Given the description of an element on the screen output the (x, y) to click on. 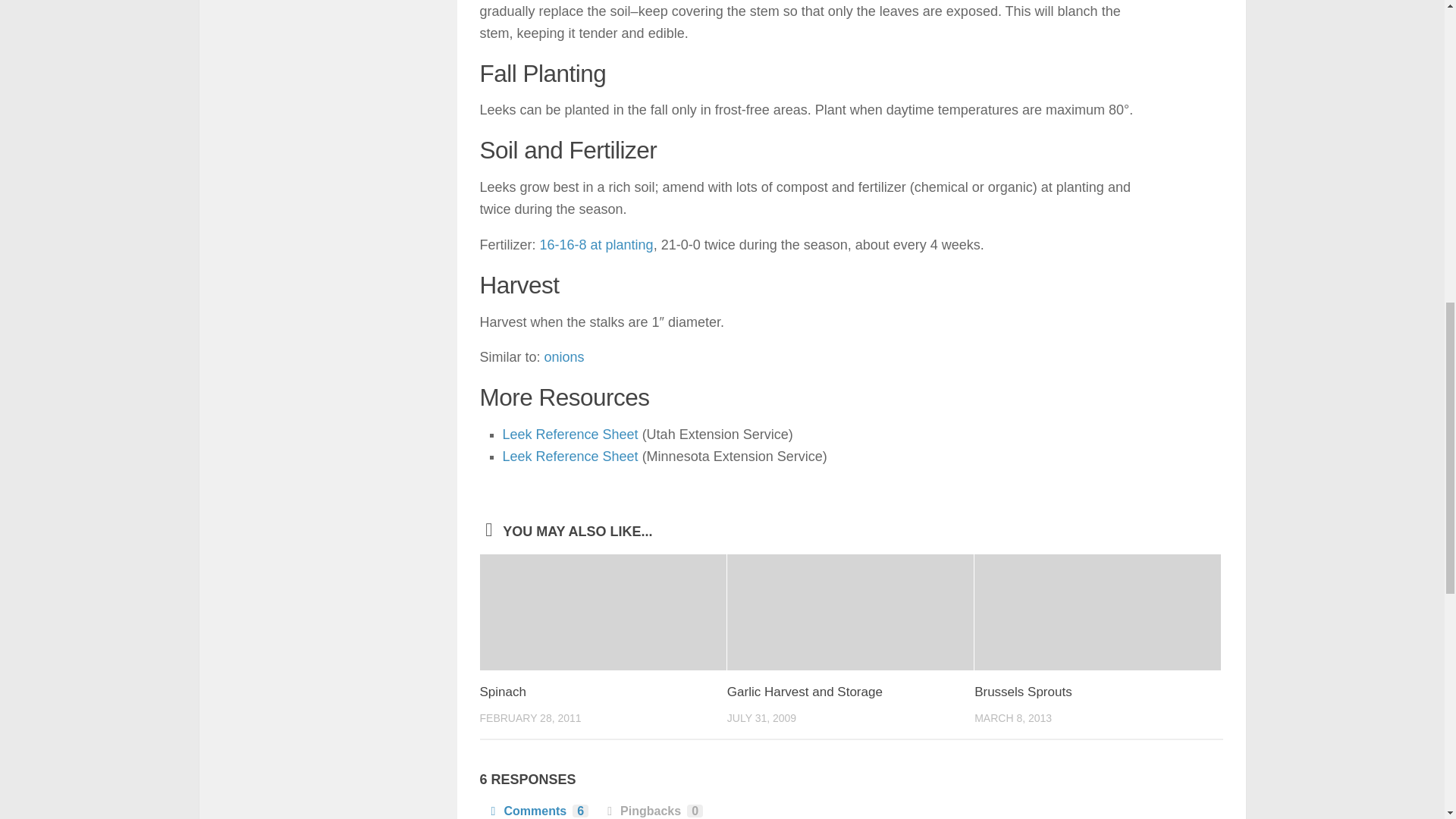
Advertisement (334, 65)
Garlic Harvest and Storage (850, 612)
Leek Reference Sheet (569, 456)
Leek Reference Sheet (569, 434)
Brussels Sprouts (1022, 691)
Brussels Sprouts (1022, 691)
onions (564, 356)
Spinach (502, 691)
Garlic Harvest and Storage (804, 691)
Garlic Harvest and Storage (804, 691)
